Given the description of an element on the screen output the (x, y) to click on. 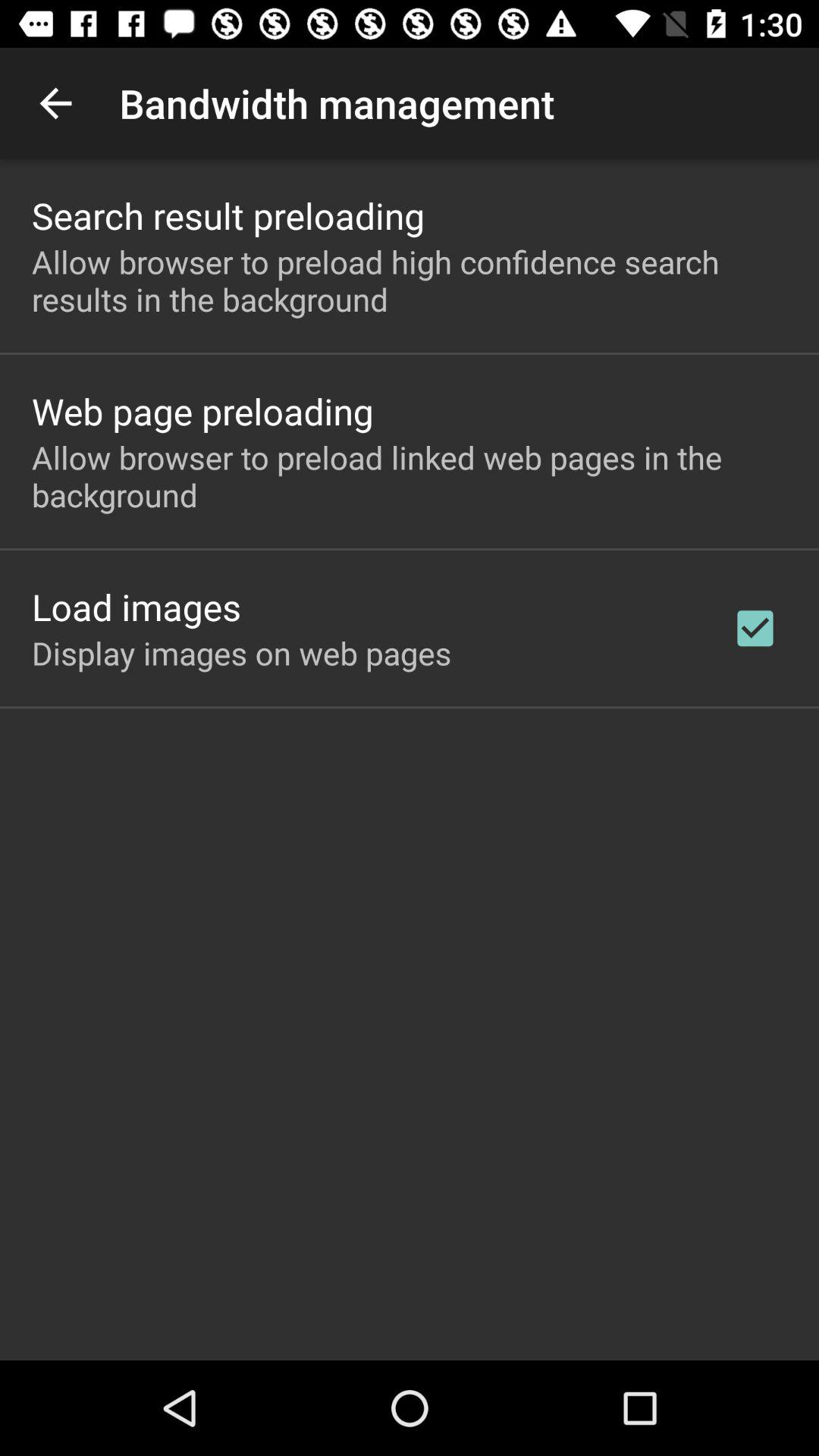
jump to web page preloading app (202, 410)
